Given the description of an element on the screen output the (x, y) to click on. 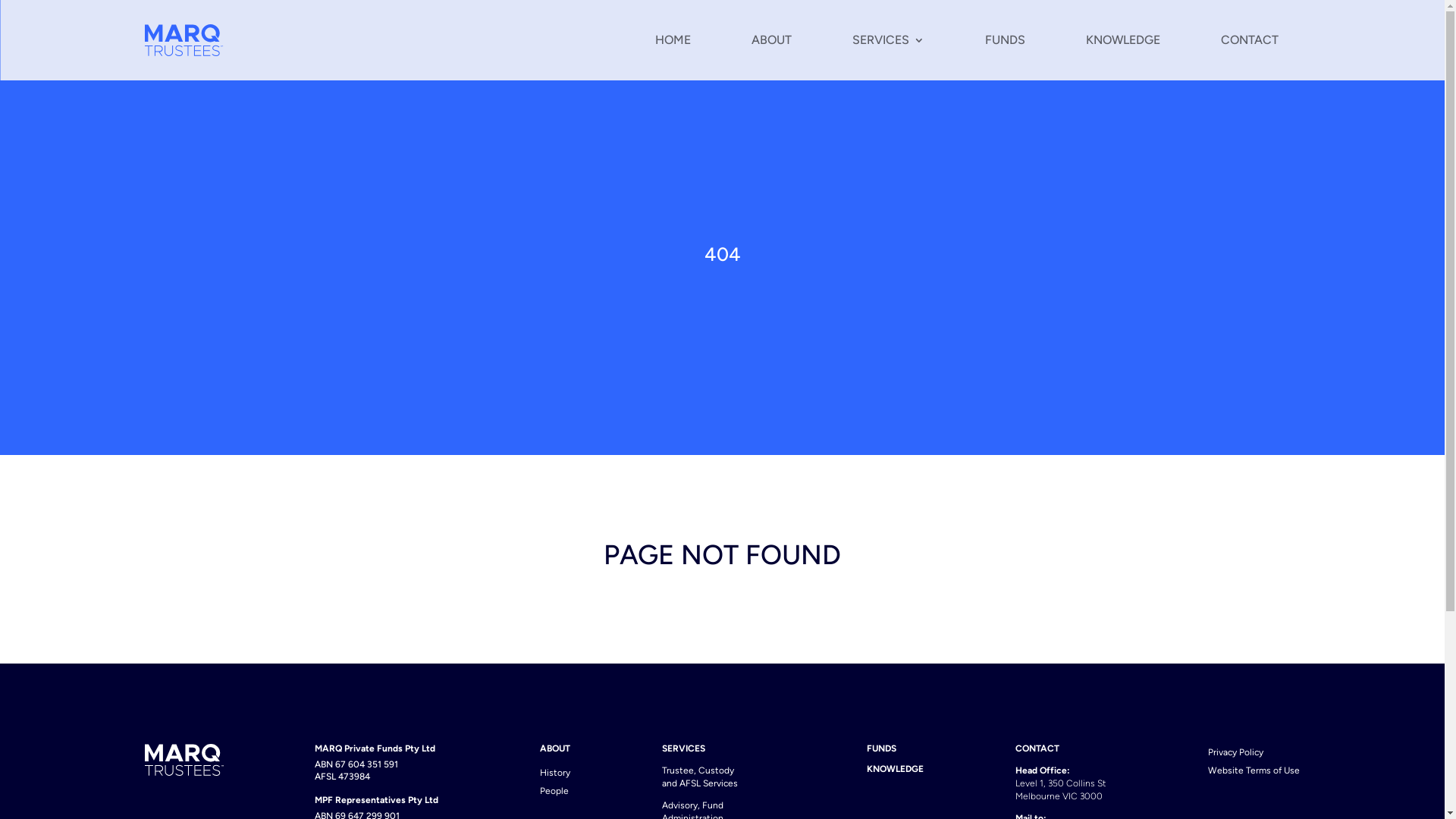
History Element type: text (554, 772)
HOME Element type: text (672, 40)
CONTACT Element type: text (1249, 40)
Logo Element type: hover (183, 759)
Trustee, Custody
and AFSL Services Element type: text (699, 781)
ABOUT Element type: text (770, 40)
People Element type: text (553, 790)
Website Terms of Use Element type: text (1253, 770)
SERVICES Element type: text (888, 40)
KNOWLEDGE Element type: text (1122, 40)
Privacy Policy Element type: text (1235, 752)
FUNDS Element type: text (1004, 40)
